Given the description of an element on the screen output the (x, y) to click on. 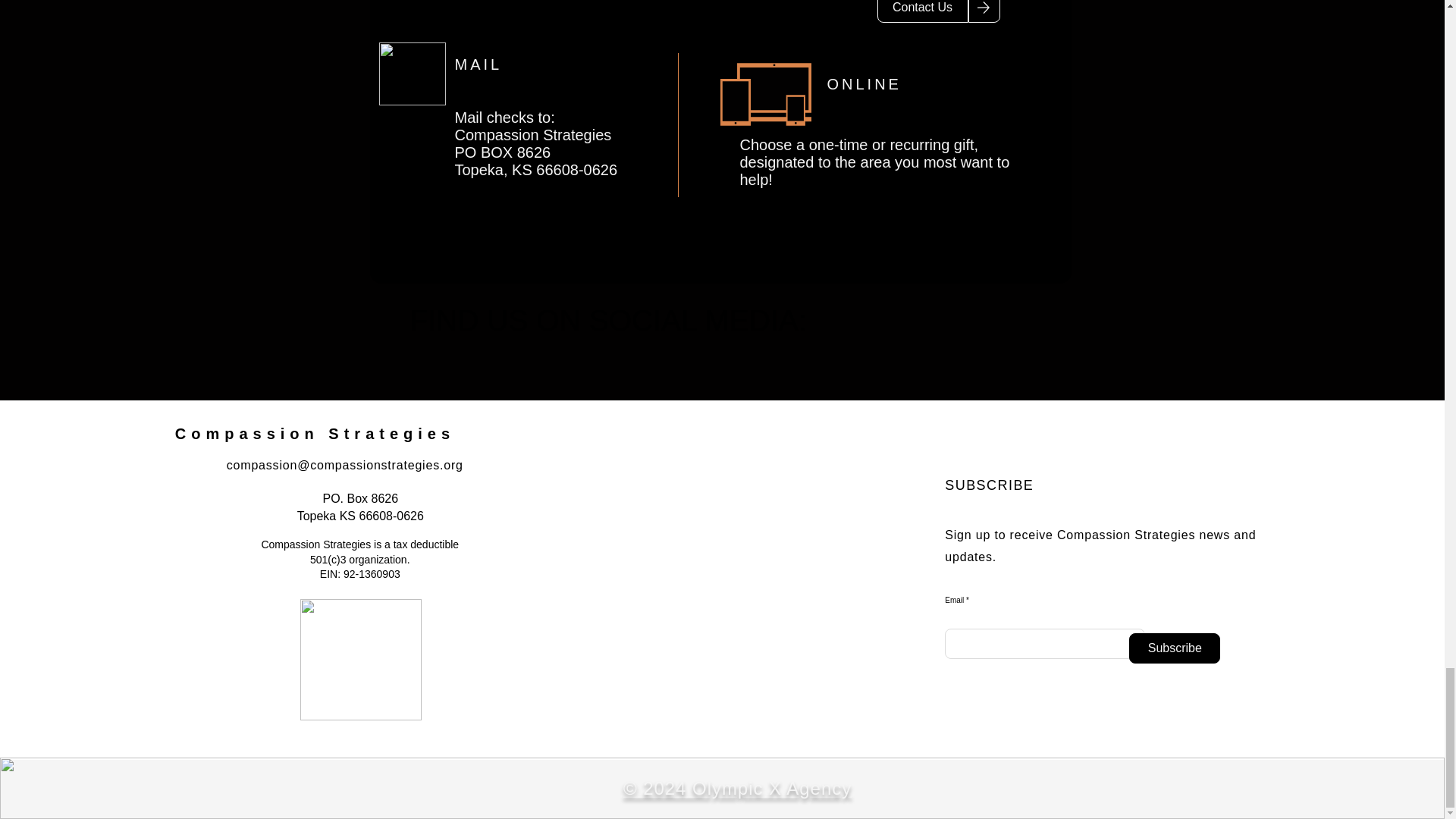
Compassion Strategies (314, 433)
Subscribe (1174, 648)
Contact Us (607, 325)
